Given the description of an element on the screen output the (x, y) to click on. 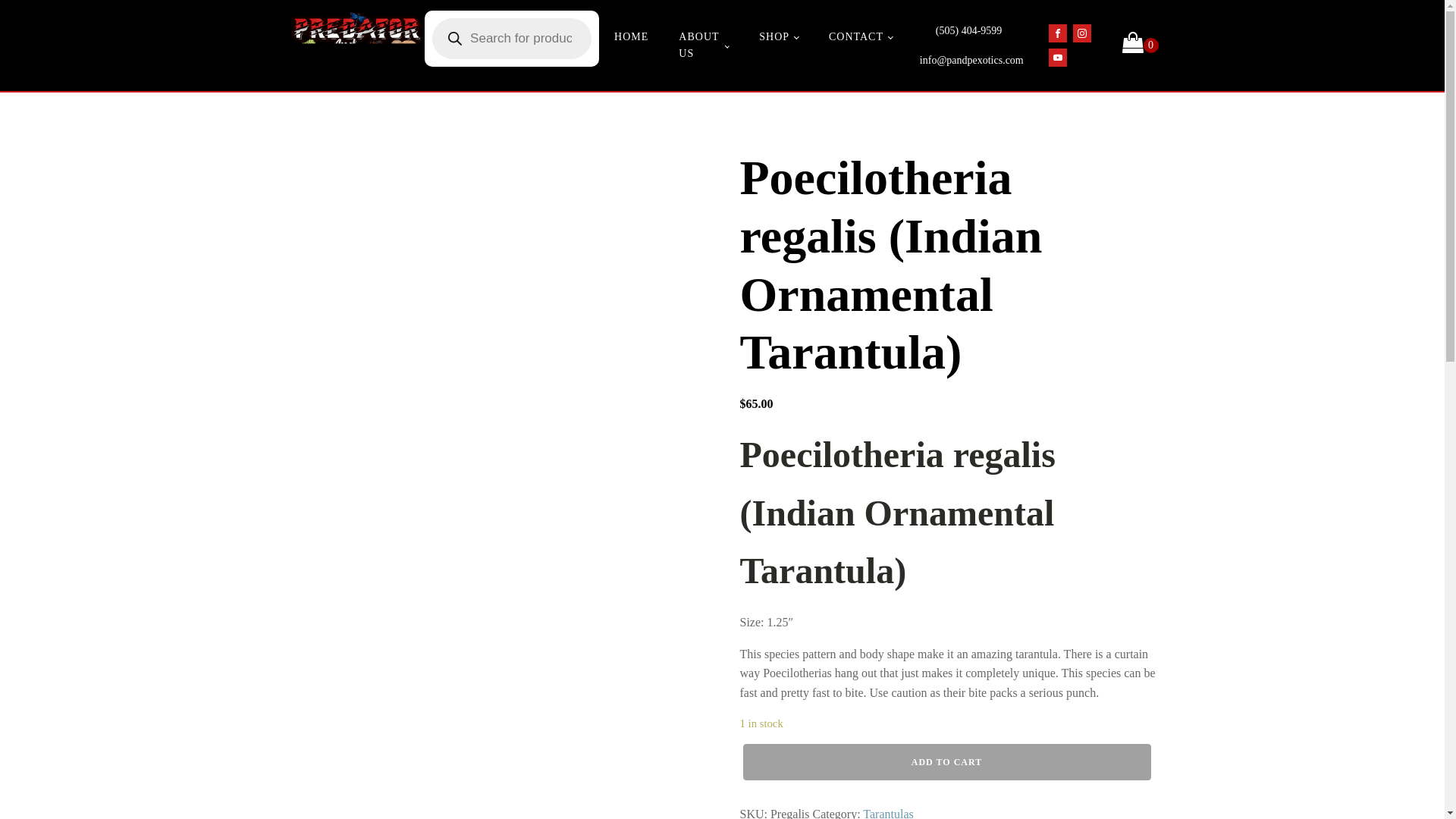
Tarantulas (887, 813)
HOME (630, 36)
CONTACT (860, 36)
ADD TO CART (946, 761)
SHOP (778, 36)
ABOUT US (703, 45)
Go to Cart (1140, 44)
